Given the description of an element on the screen output the (x, y) to click on. 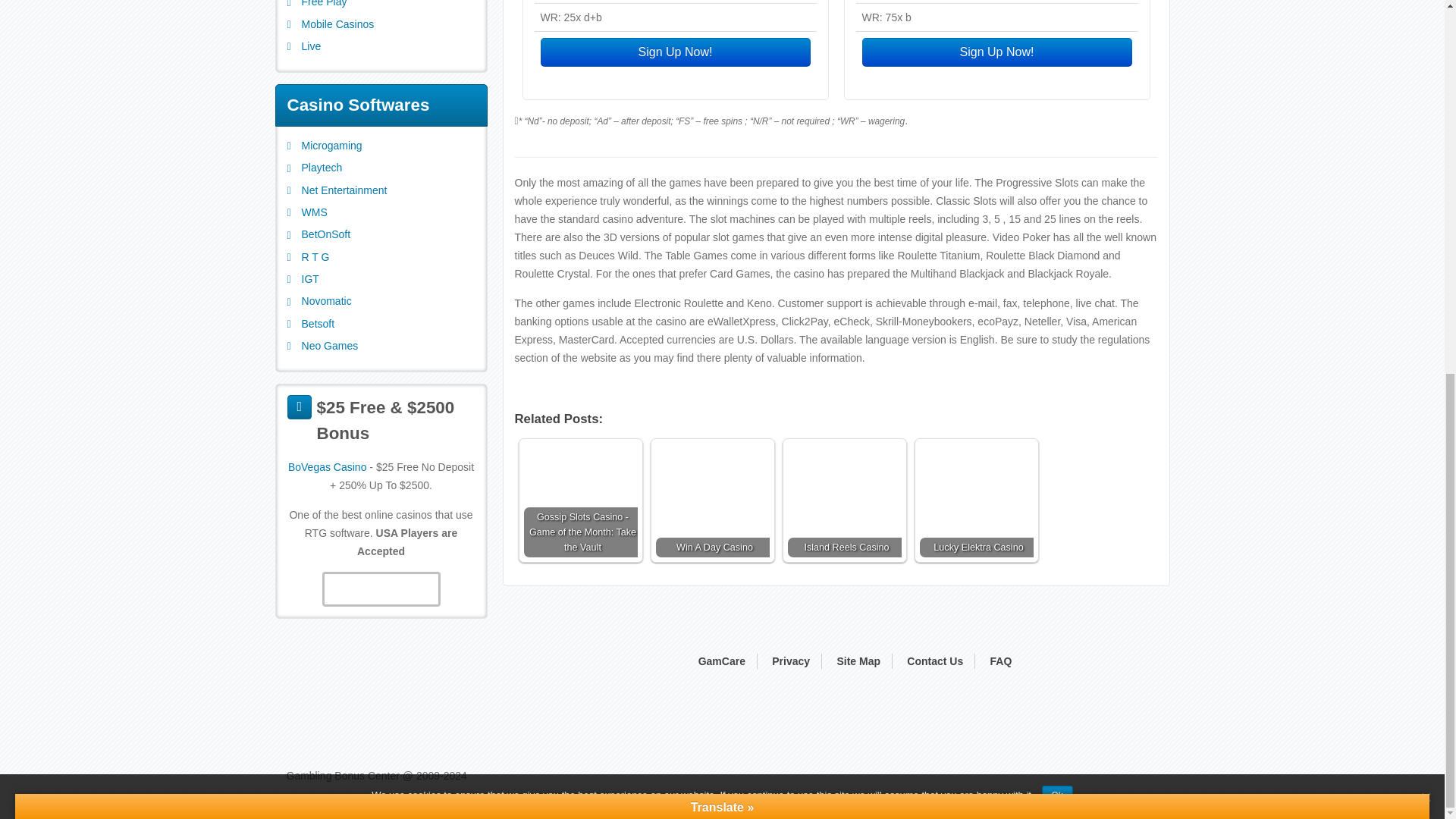
Lucky Elektra Casino (975, 500)
Island Reels Casino (844, 500)
No (1425, 111)
Gossip Slots Casino - Game of the Month: Take the Vault (579, 500)
Win A Day Casino (711, 500)
